Given the description of an element on the screen output the (x, y) to click on. 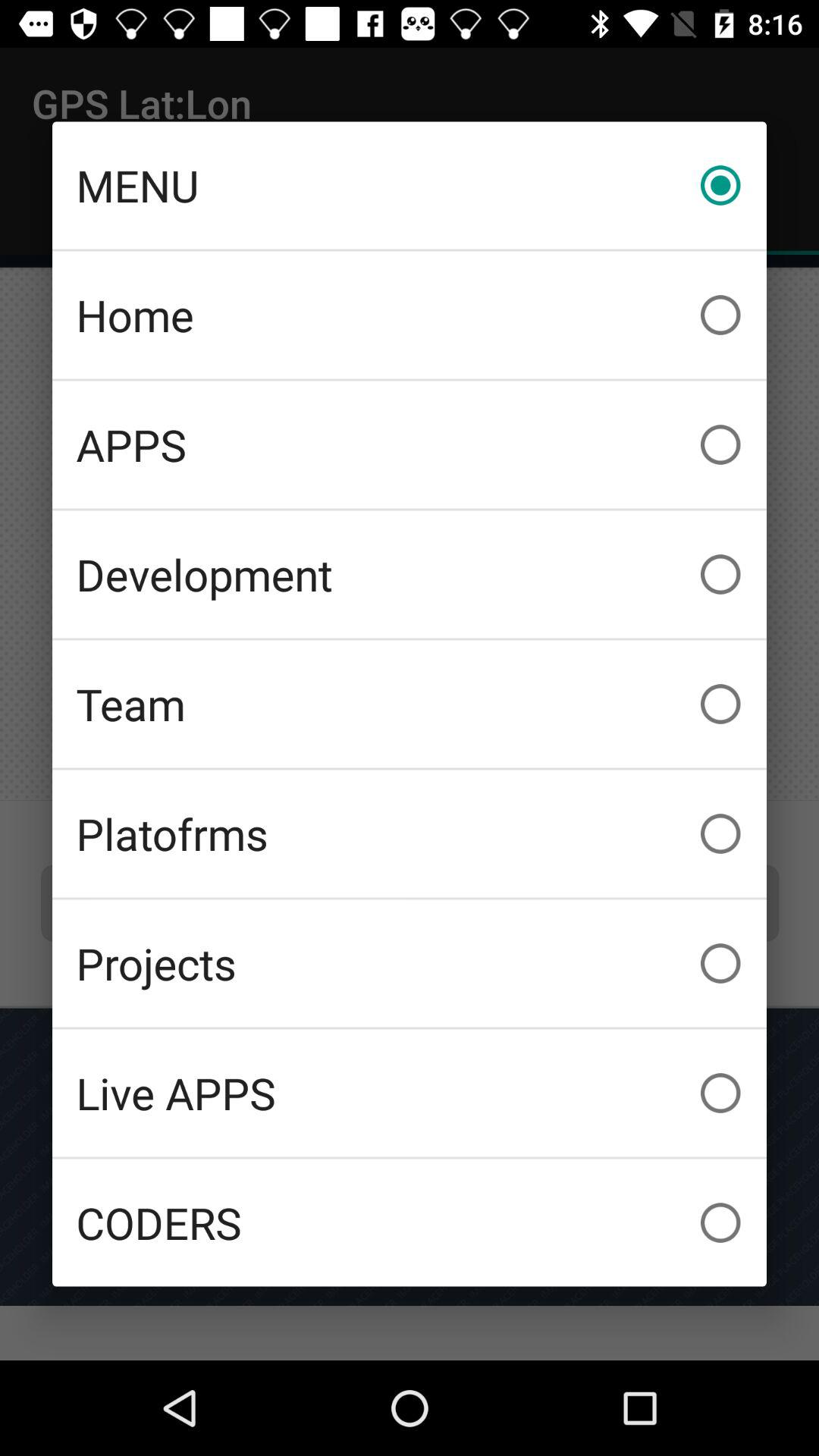
select development item (409, 574)
